Given the description of an element on the screen output the (x, y) to click on. 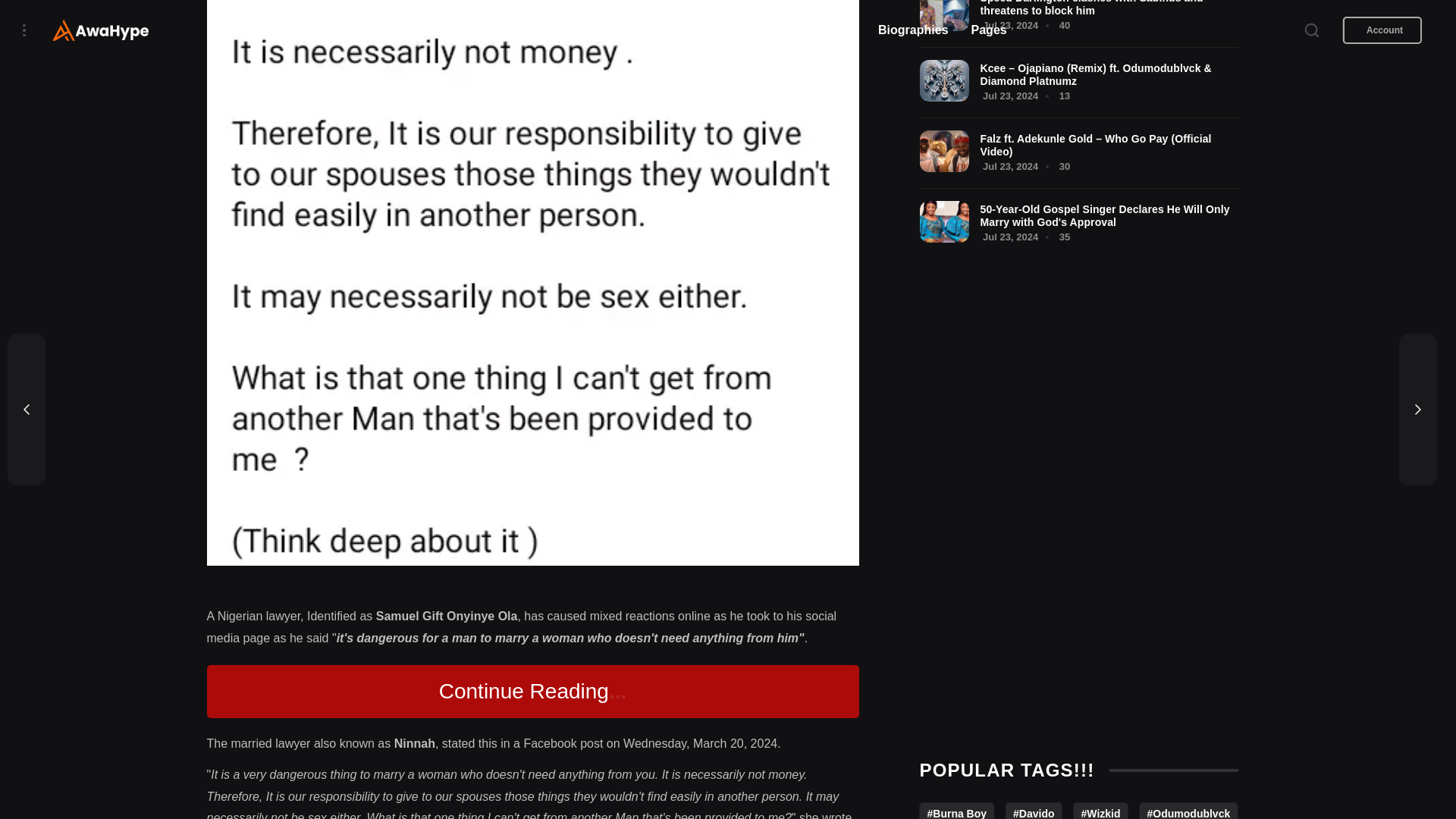
Continue Reading... (532, 691)
